Given the description of an element on the screen output the (x, y) to click on. 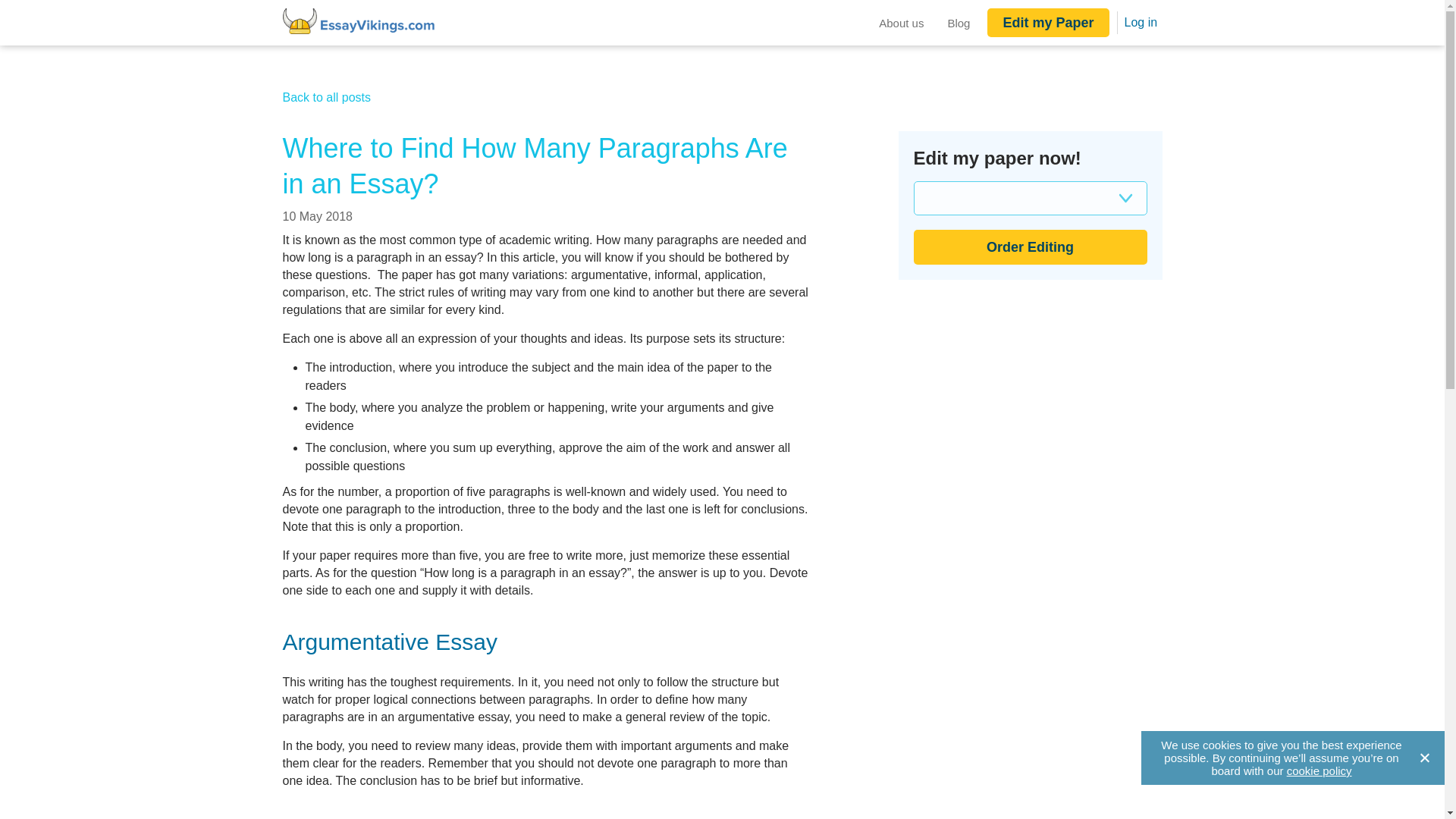
Blog (958, 22)
Back to all posts (326, 97)
Log in (1136, 21)
cookie policy (1319, 770)
Edit my Paper (1047, 22)
Order Editing (1029, 247)
